Given the description of an element on the screen output the (x, y) to click on. 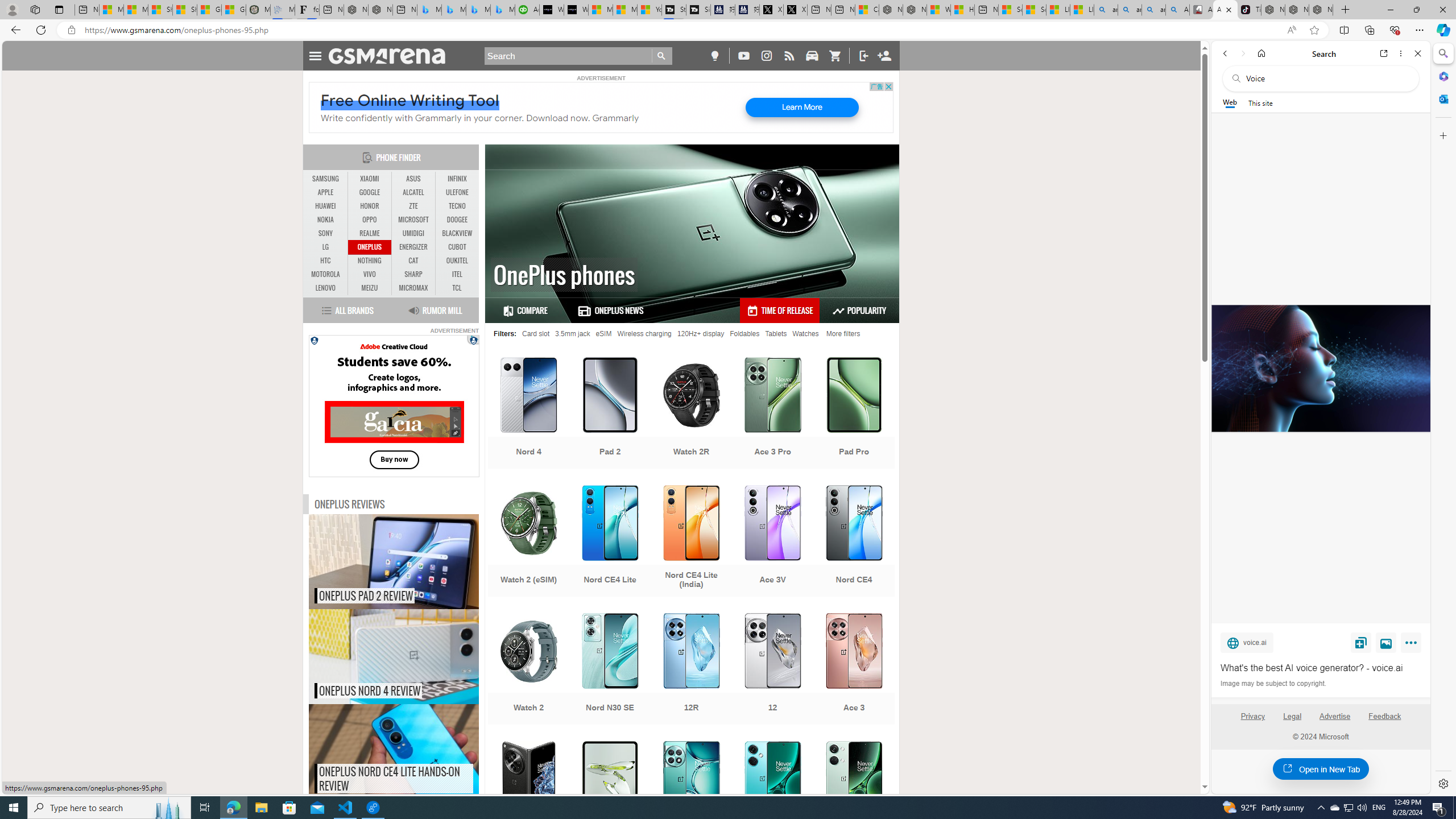
Ace 3V (772, 542)
ASUS (413, 178)
Microsoft Bing Travel - Shangri-La Hotel Bangkok (502, 9)
MICROSOFT (413, 219)
Watch 2 (528, 670)
MEIZU (369, 287)
GOOGLE (369, 192)
Card slot (536, 333)
